Given the description of an element on the screen output the (x, y) to click on. 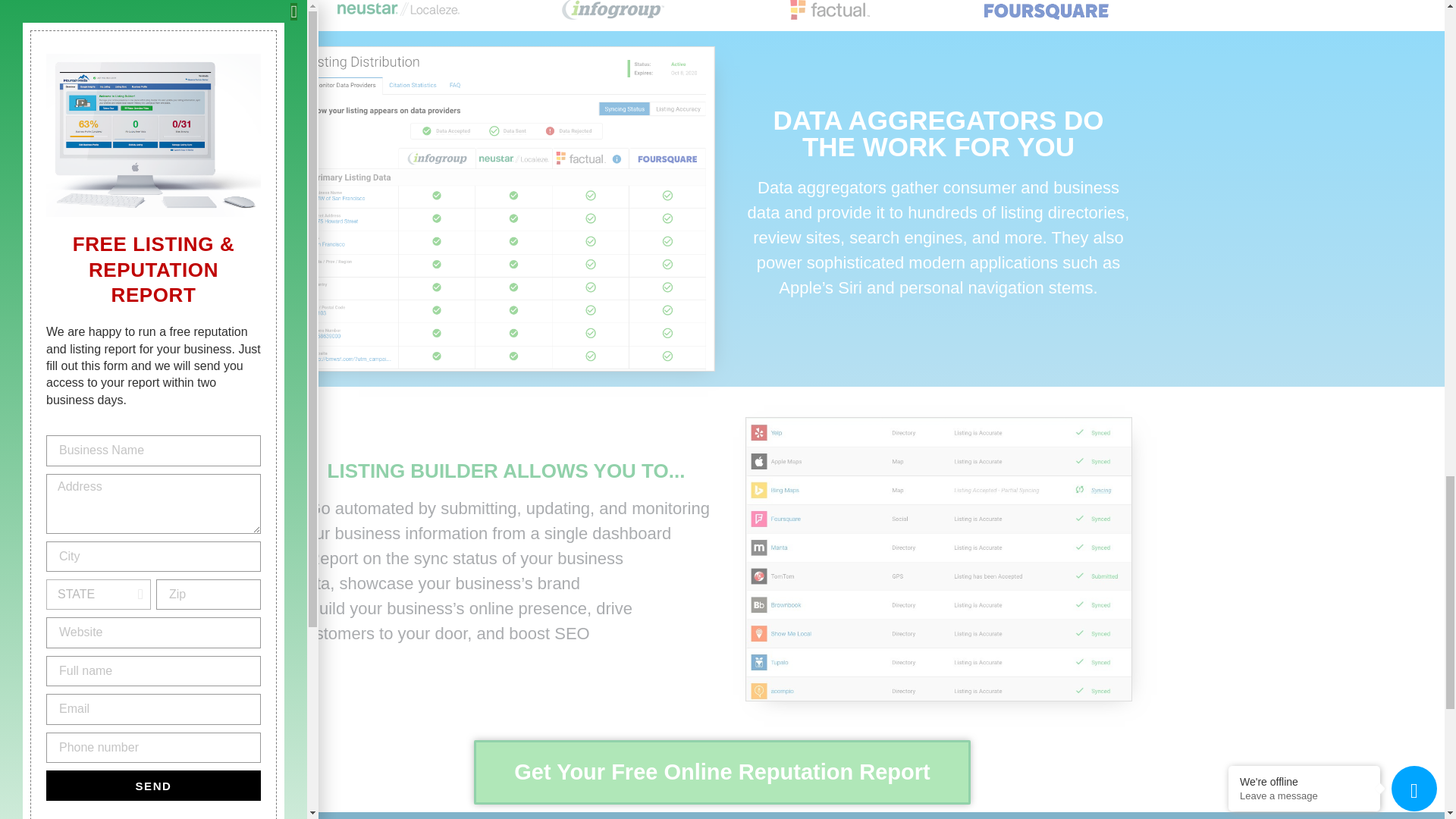
Get Your Free Online Reputation Report (721, 772)
